Given the description of an element on the screen output the (x, y) to click on. 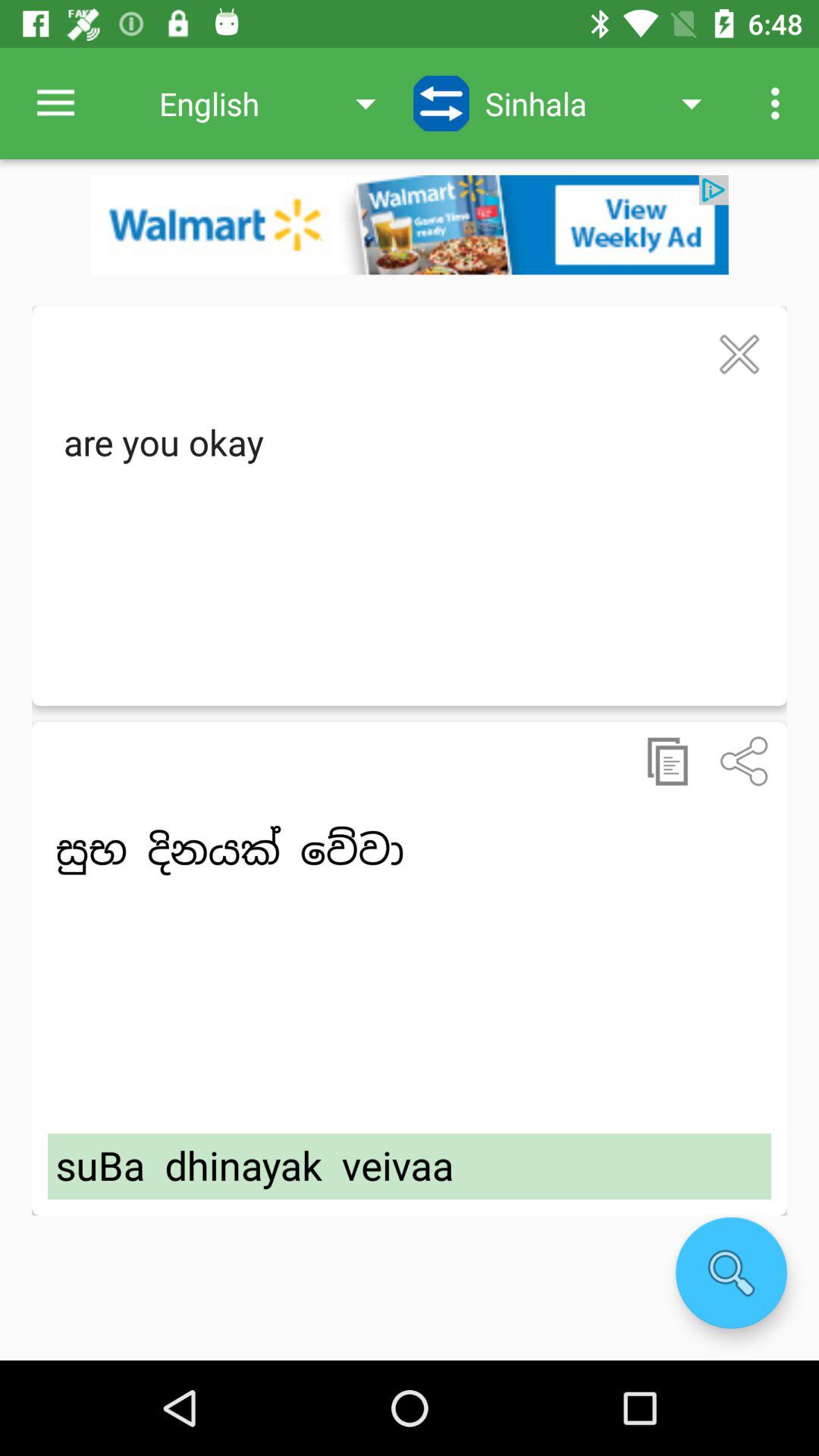
search option (731, 1272)
